Given the description of an element on the screen output the (x, y) to click on. 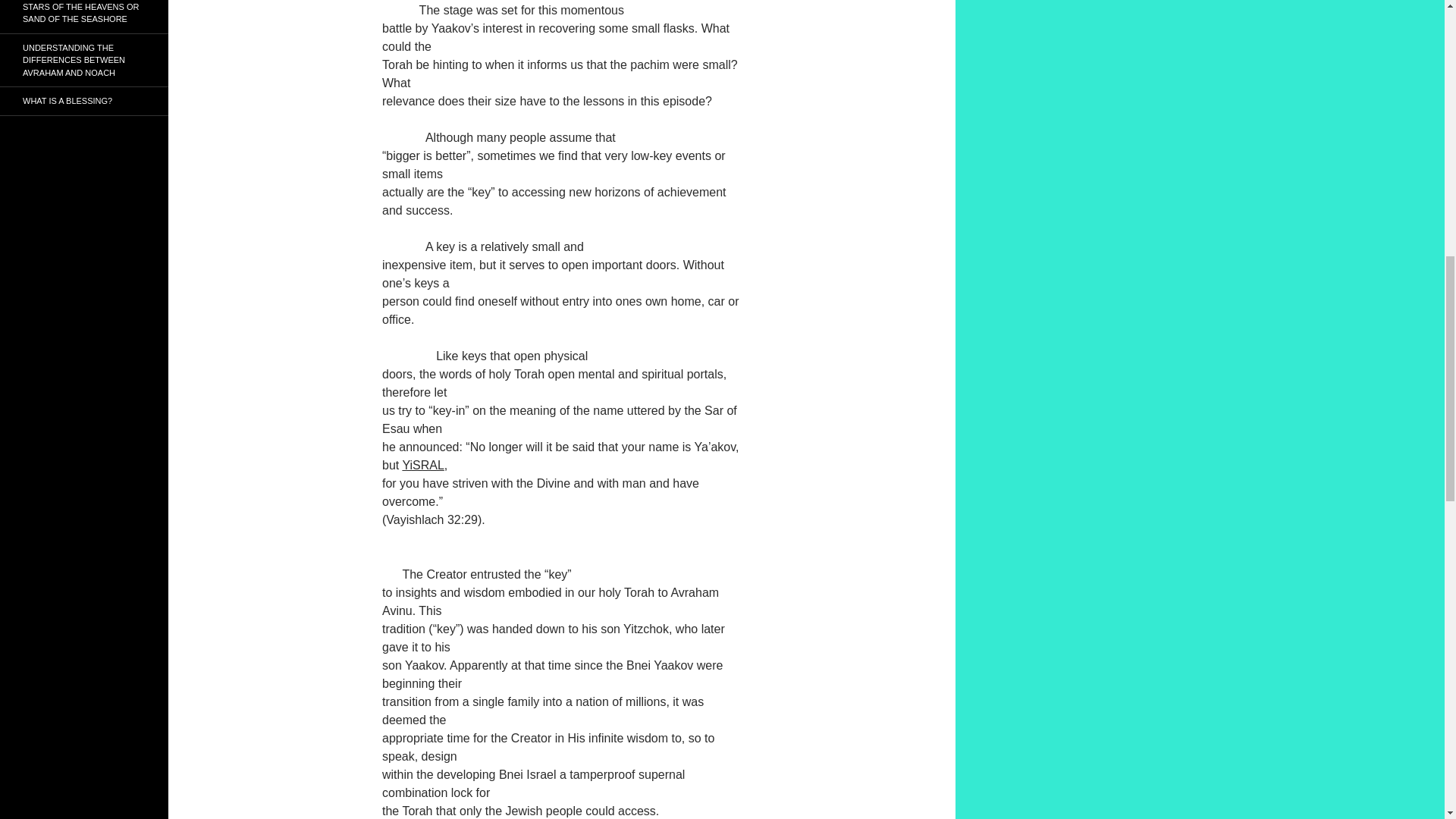
WHAT IS A BLESSING? (84, 100)
STARS OF THE HEAVENS OR SAND OF THE SEASHORE (84, 16)
UNDERSTANDING THE DIFFERENCES BETWEEN AVRAHAM AND NOACH (84, 59)
